Given the description of an element on the screen output the (x, y) to click on. 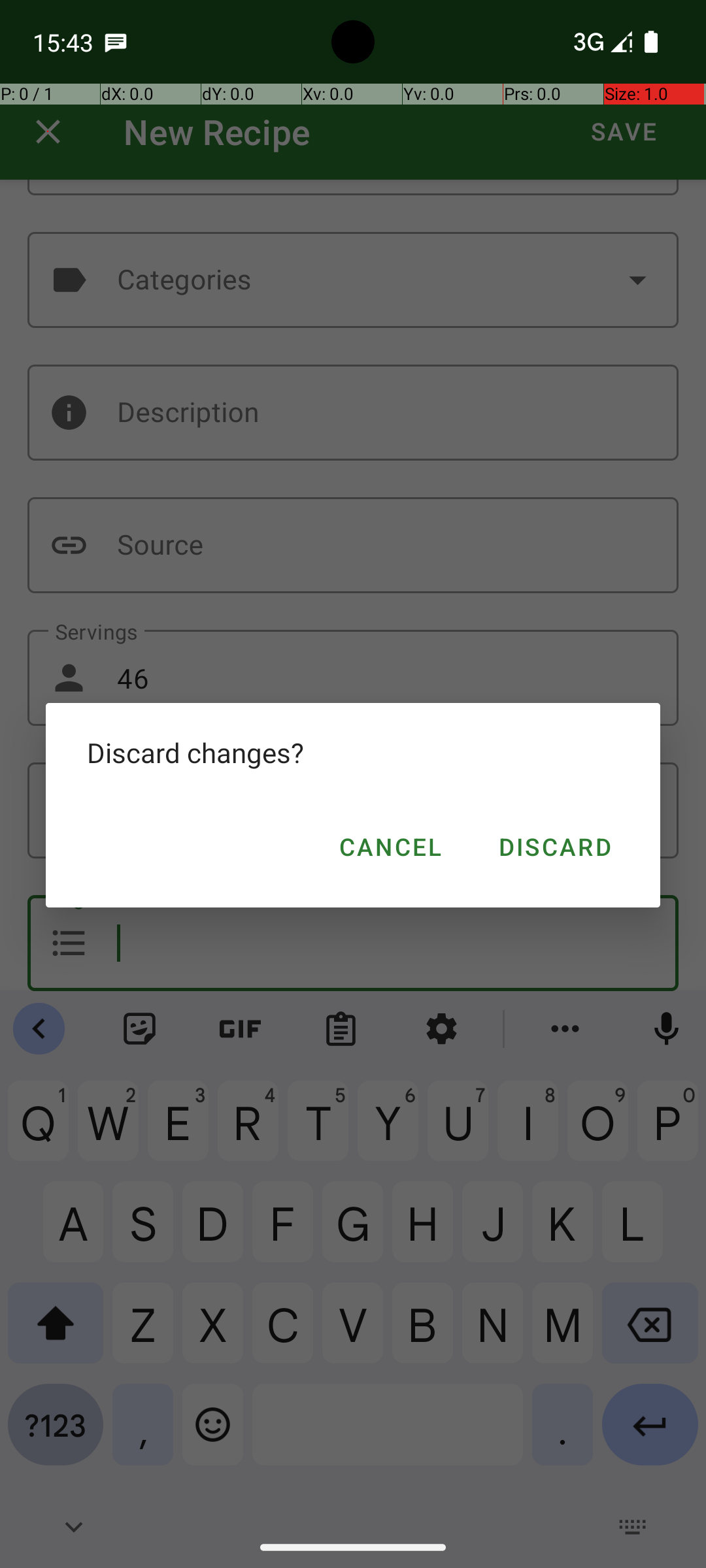
Discard changes? Element type: android.widget.TextView (352, 751)
DISCARD Element type: android.widget.Button (554, 846)
15:43 Element type: android.widget.TextView (64, 41)
